Given the description of an element on the screen output the (x, y) to click on. 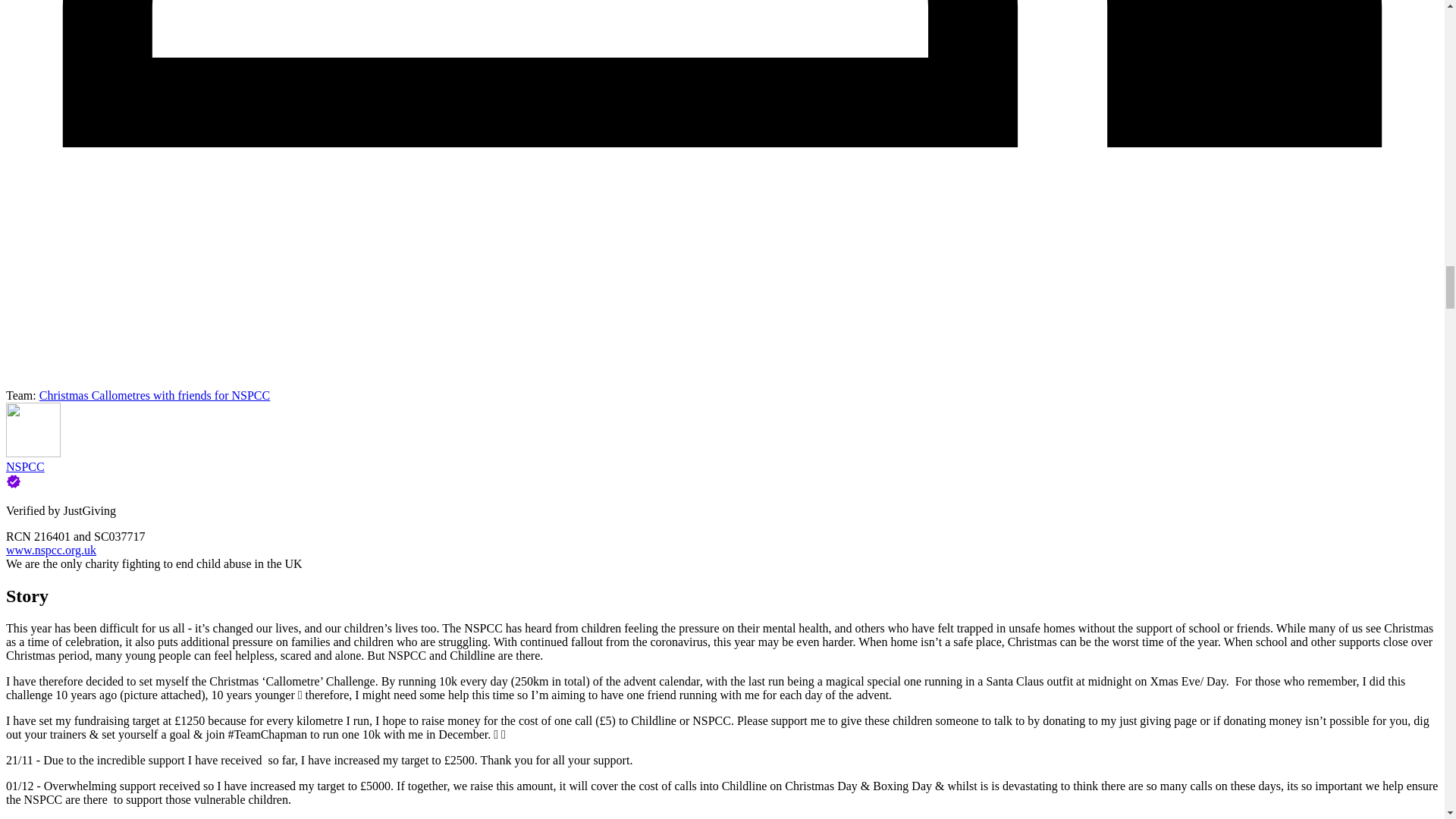
www.nspcc.org.uk (50, 549)
Christmas Callometres with friends for NSPCC (154, 395)
NSPCC (25, 466)
